Given the description of an element on the screen output the (x, y) to click on. 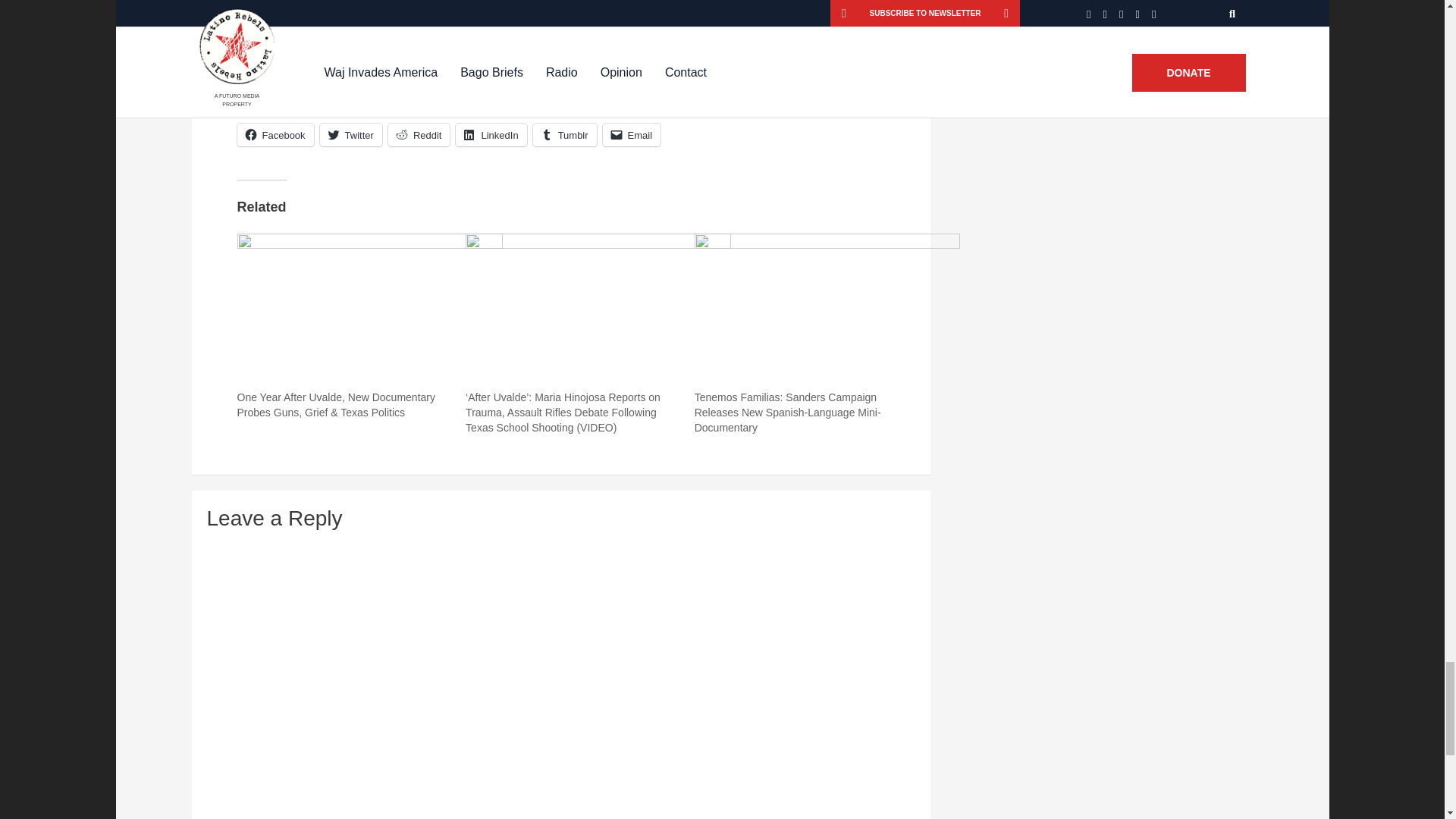
Email (631, 134)
Click to share on LinkedIn (490, 134)
Twitter (350, 134)
Facebook (274, 134)
Reddit (418, 134)
Click to share on Twitter (350, 134)
Click to share on Tumblr (564, 134)
Click to share on Facebook (274, 134)
Click to email a link to a friend (631, 134)
Supreme Court of Politics (502, 31)
Click to share on Reddit (418, 134)
Tumblr (564, 134)
LinkedIn (490, 134)
